Given the description of an element on the screen output the (x, y) to click on. 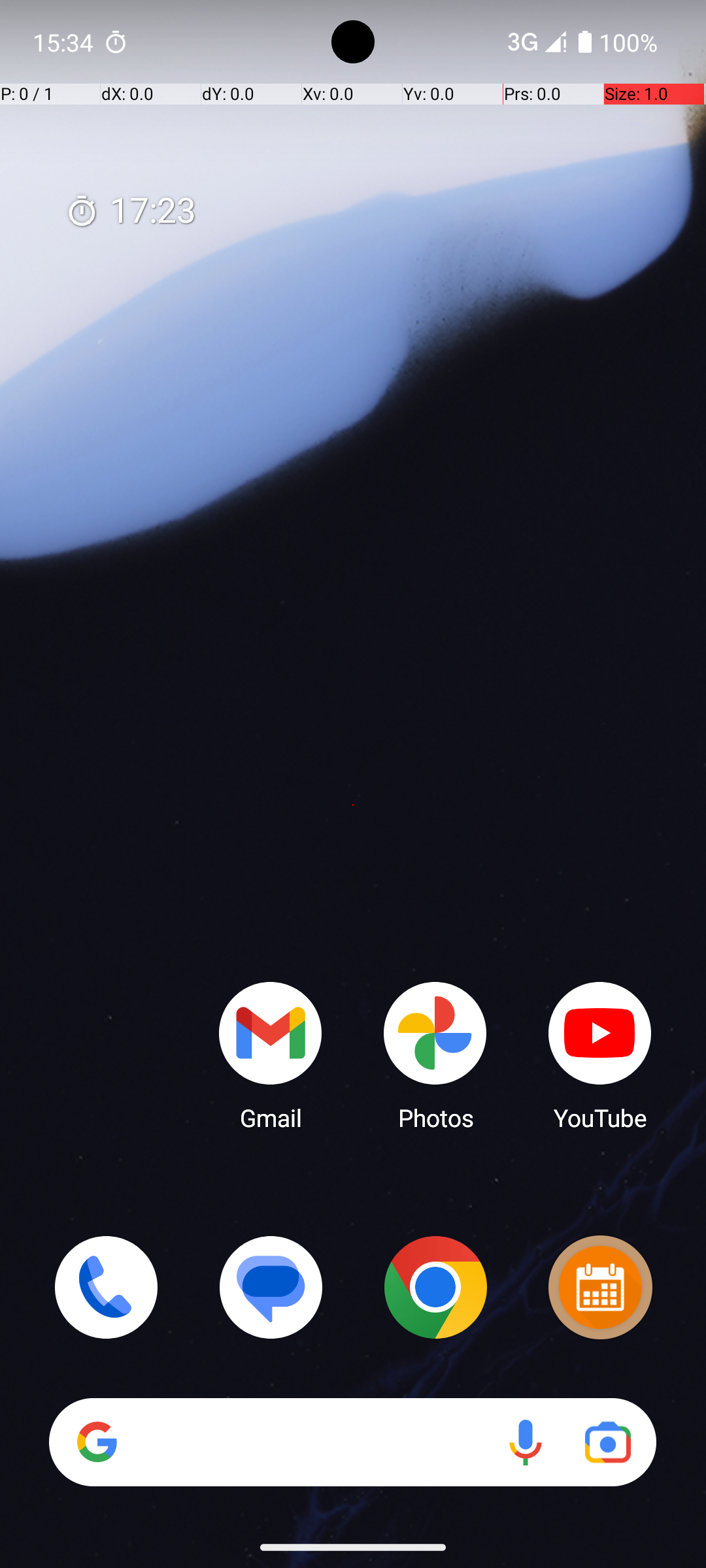
17:23 Element type: android.widget.TextView (130, 210)
